Given the description of an element on the screen output the (x, y) to click on. 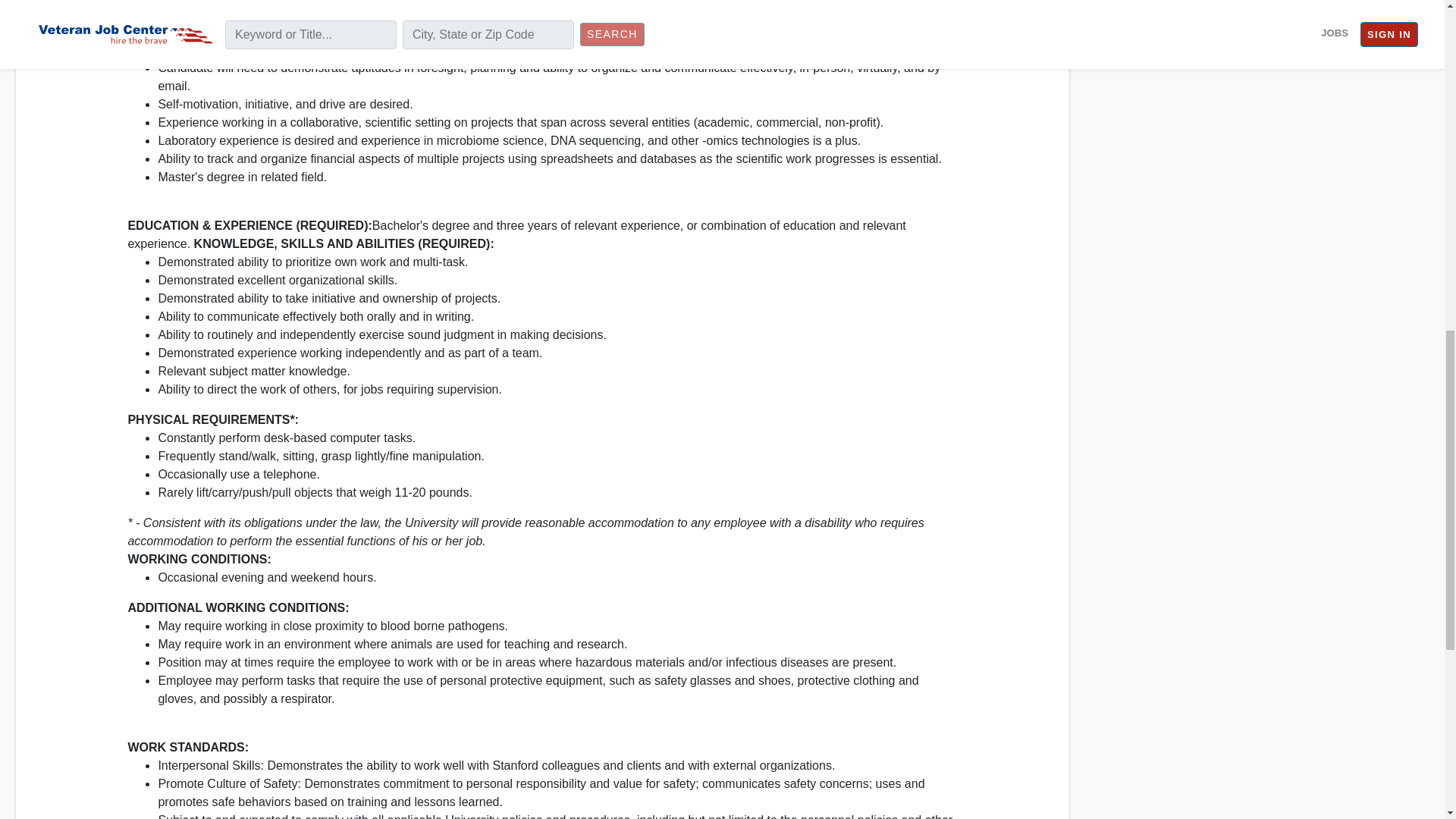
Terms and Privacy Policy (1155, 25)
Email Veteran Job Center (1240, 6)
Link to Twitter (1225, 6)
Link to Facebook (1209, 6)
Link to LinkedIn (1195, 6)
